Given the description of an element on the screen output the (x, y) to click on. 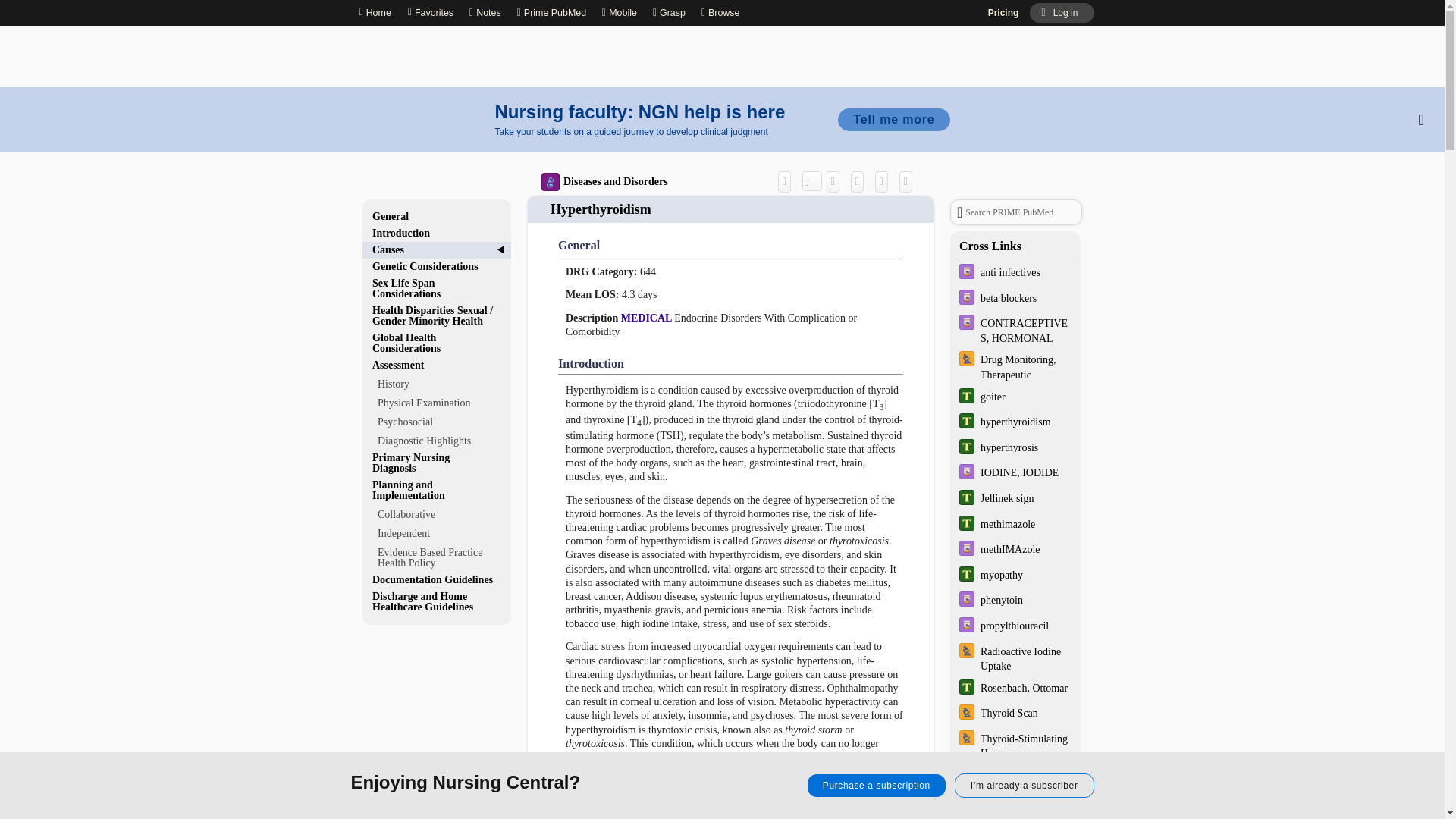
Grasp (669, 12)
Home (373, 12)
Favorite (885, 180)
Log in (1061, 12)
Grasp (668, 12)
Tell me more (893, 119)
Browse (722, 12)
Search Diseases and Disorders (812, 180)
Print PDF (860, 180)
Notes (484, 12)
